Given the description of an element on the screen output the (x, y) to click on. 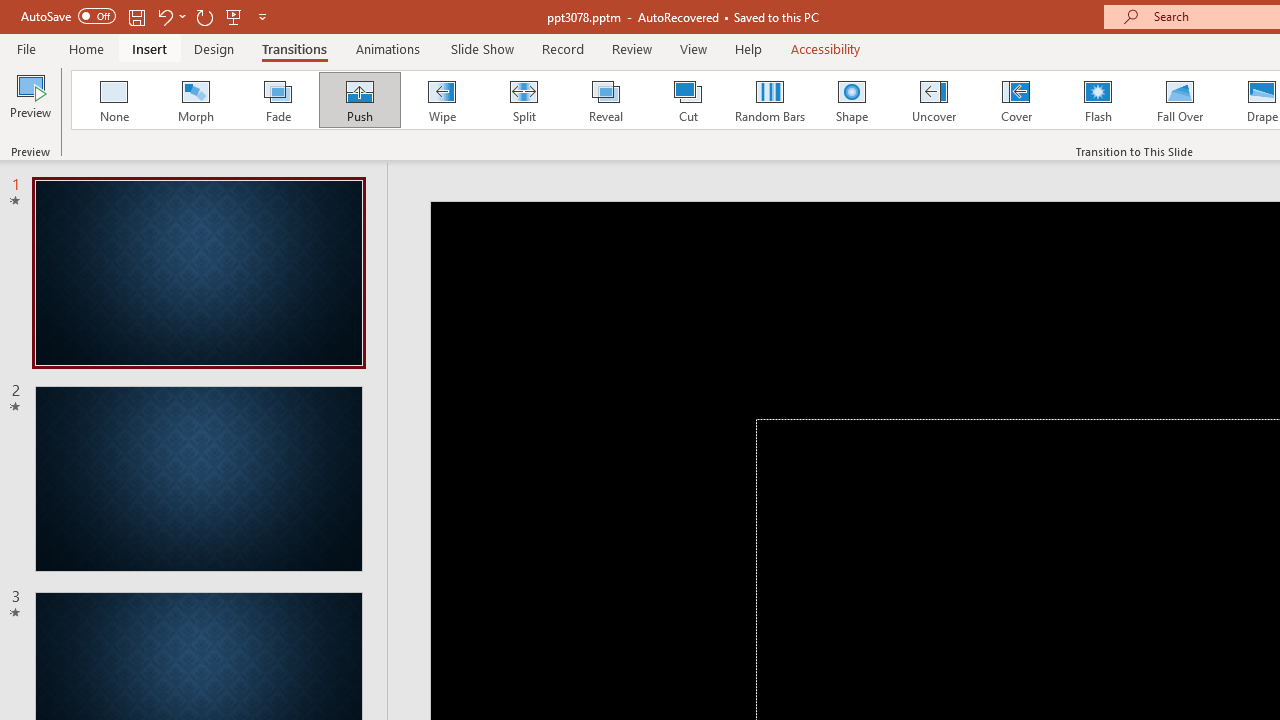
Flash (1098, 100)
Reveal (605, 100)
Uncover (934, 100)
Morph (195, 100)
